Given the description of an element on the screen output the (x, y) to click on. 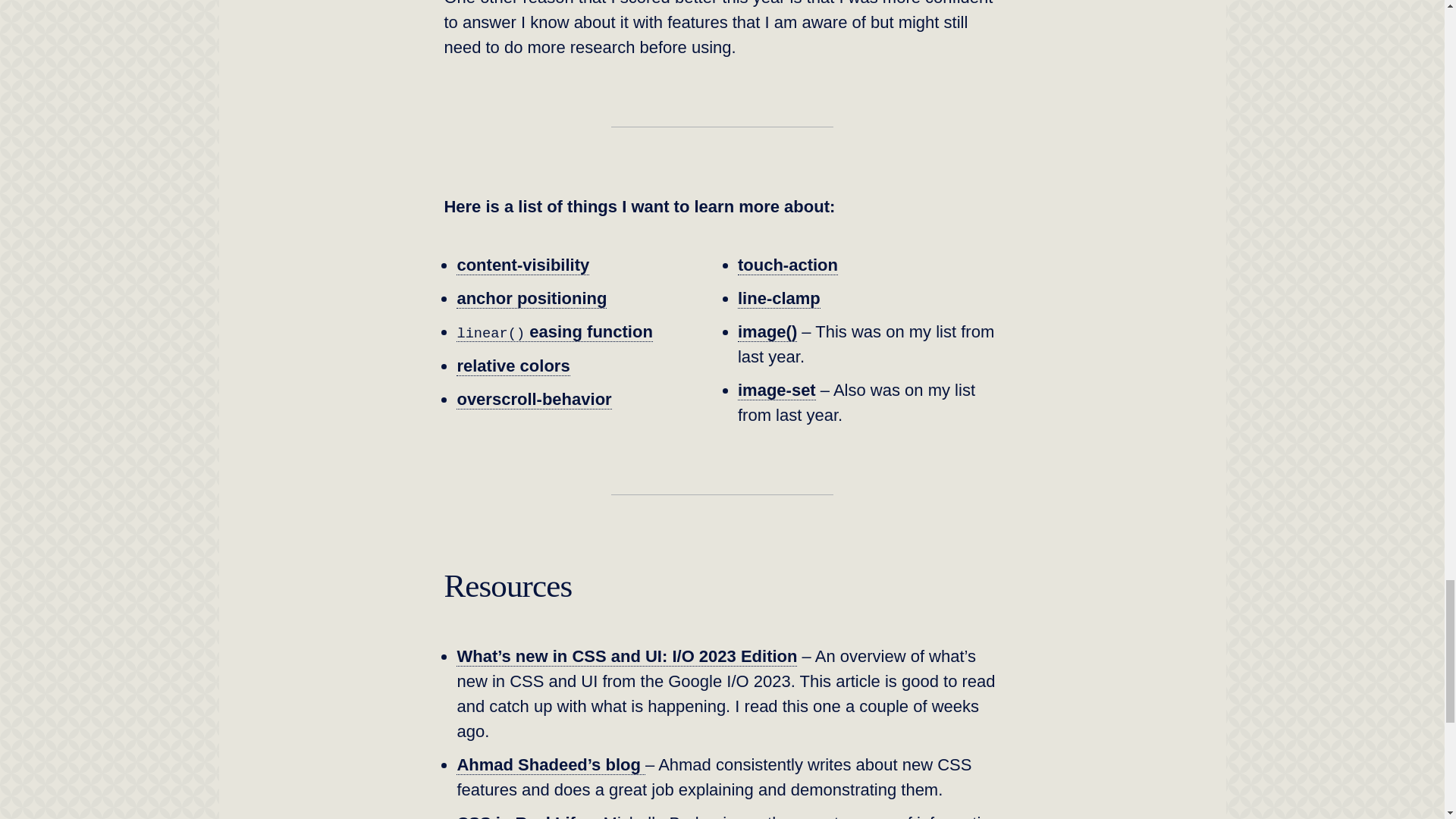
relative colors (513, 365)
anchor positioning (532, 298)
touch-action (788, 265)
CSS in Real Life (521, 816)
content-visibility (523, 265)
overscroll-behavior (534, 399)
line-clamp (779, 298)
image-set (776, 390)
